Given the description of an element on the screen output the (x, y) to click on. 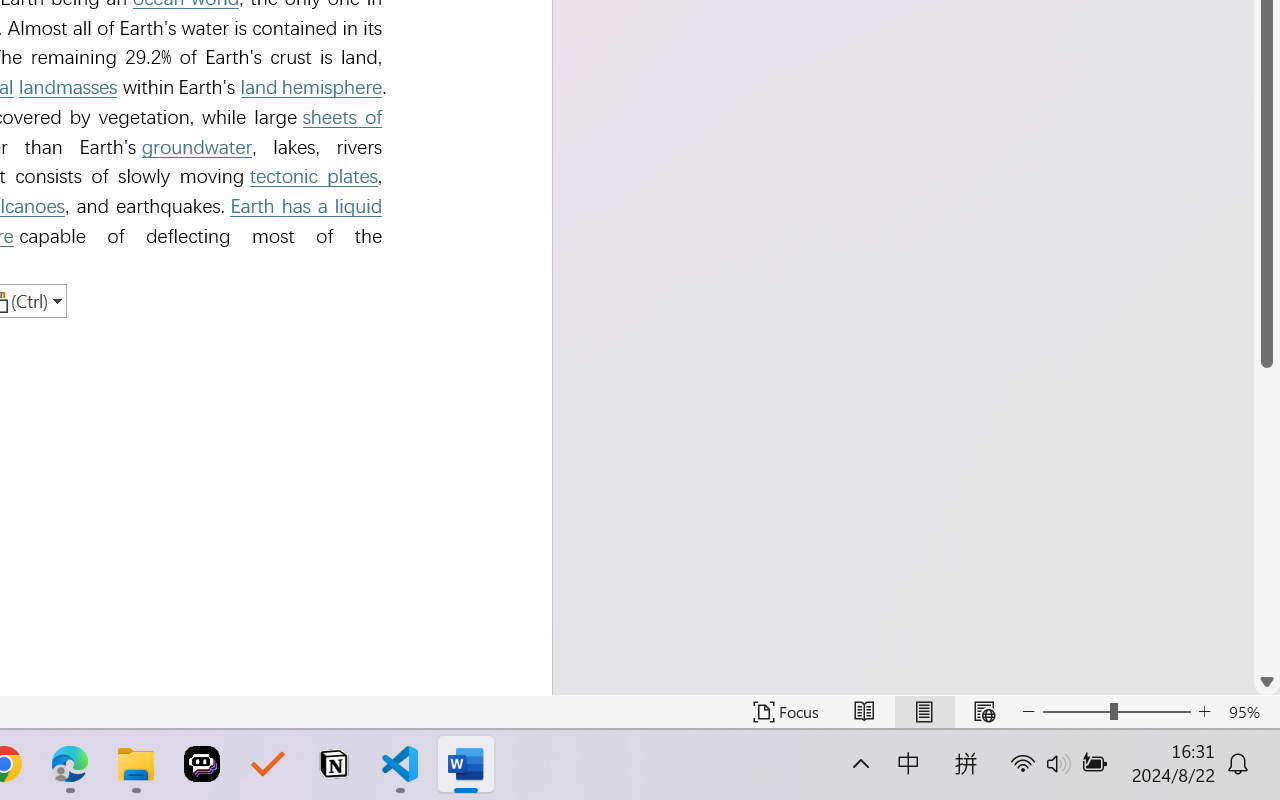
Page down (1267, 518)
groundwater (197, 147)
Line down (1267, 681)
landmasses (67, 86)
tectonic plates (313, 176)
Zoom 95% (1249, 712)
land hemisphere (310, 86)
